Given the description of an element on the screen output the (x, y) to click on. 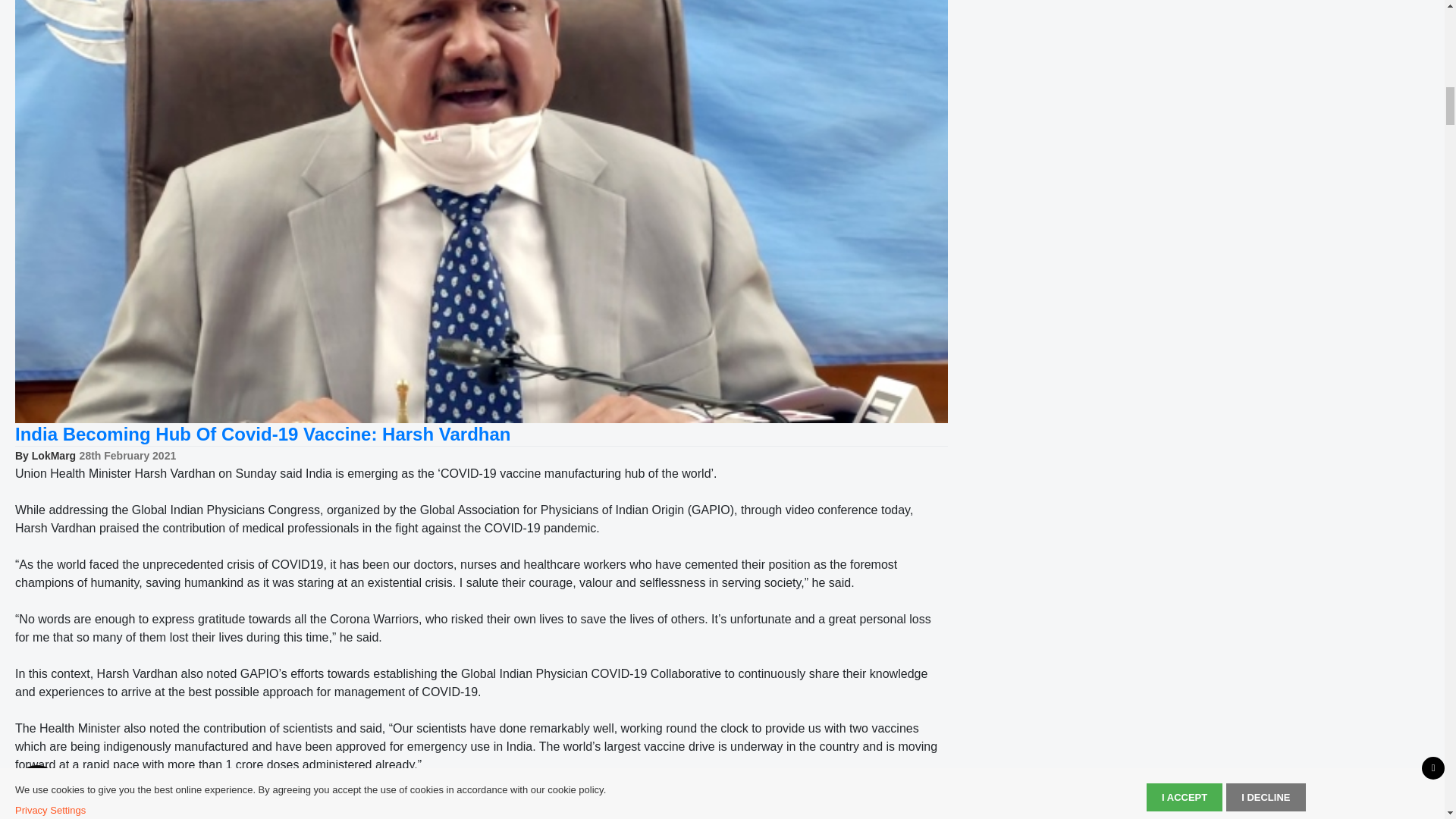
India Becoming Hub Of Covid-19 Vaccine: Harsh Vardhan (262, 434)
LokMarg (53, 455)
